Given the description of an element on the screen output the (x, y) to click on. 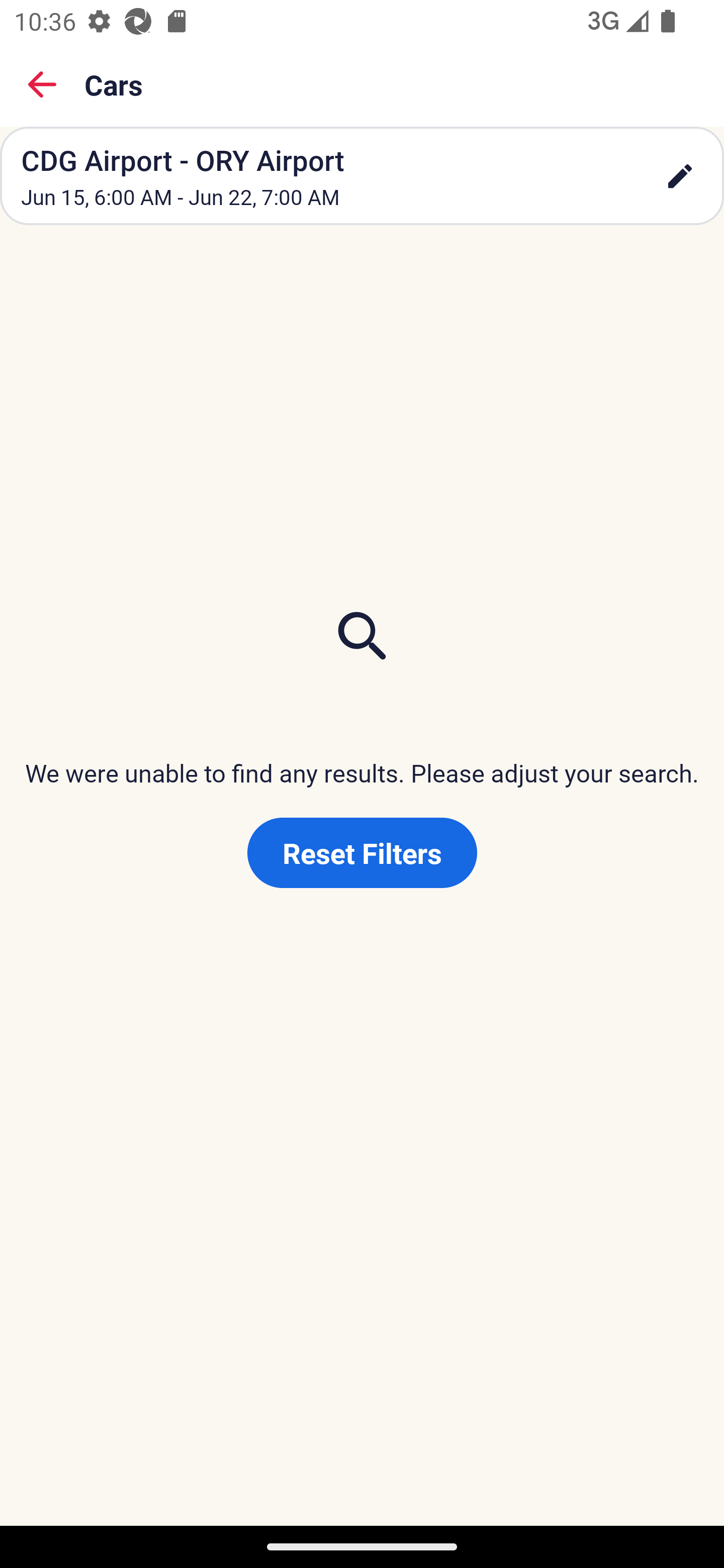
Back (42, 84)
edit (679, 175)
Reset Filters (362, 852)
